Given the description of an element on the screen output the (x, y) to click on. 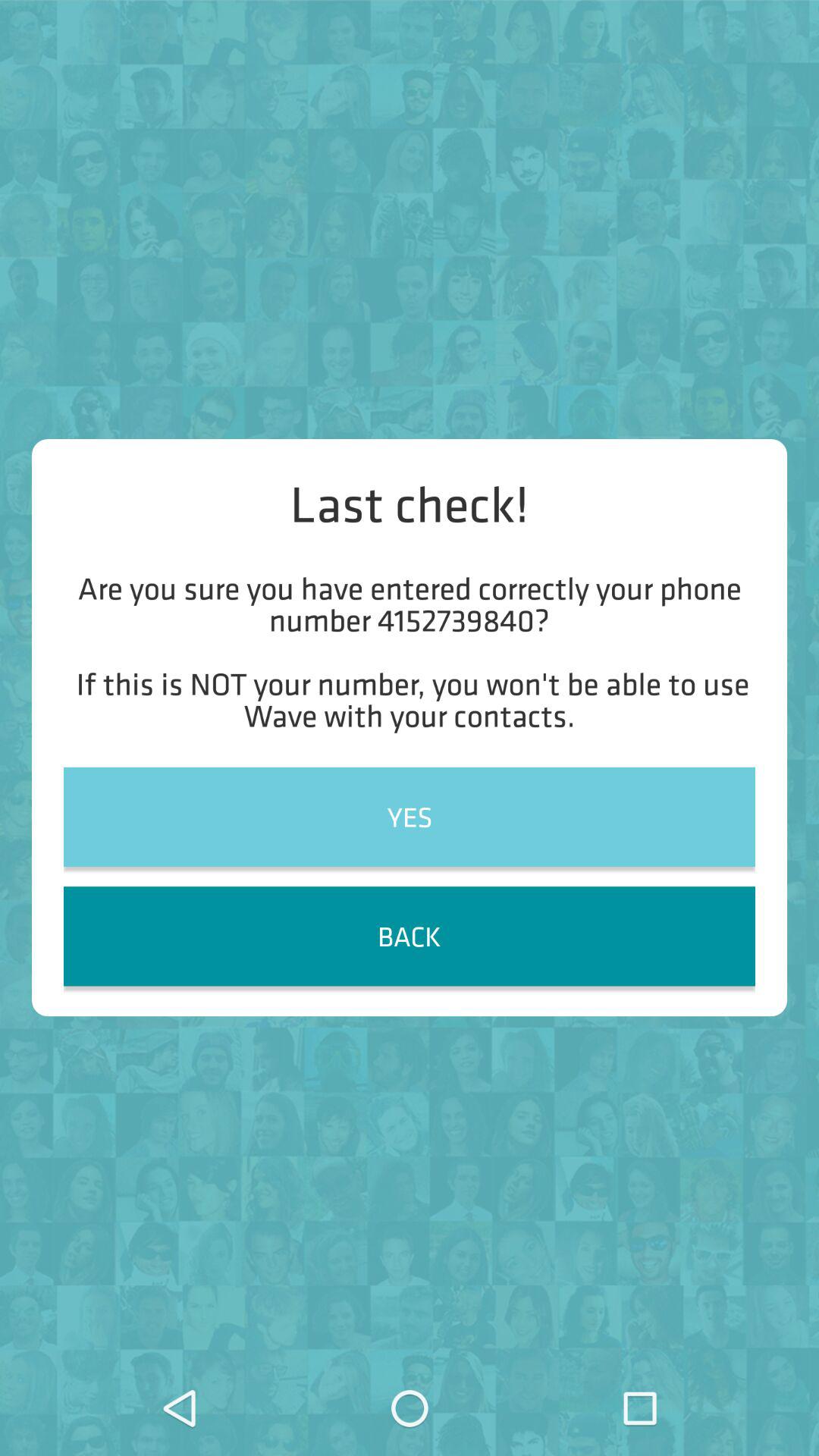
tap the item above yes item (409, 651)
